Given the description of an element on the screen output the (x, y) to click on. 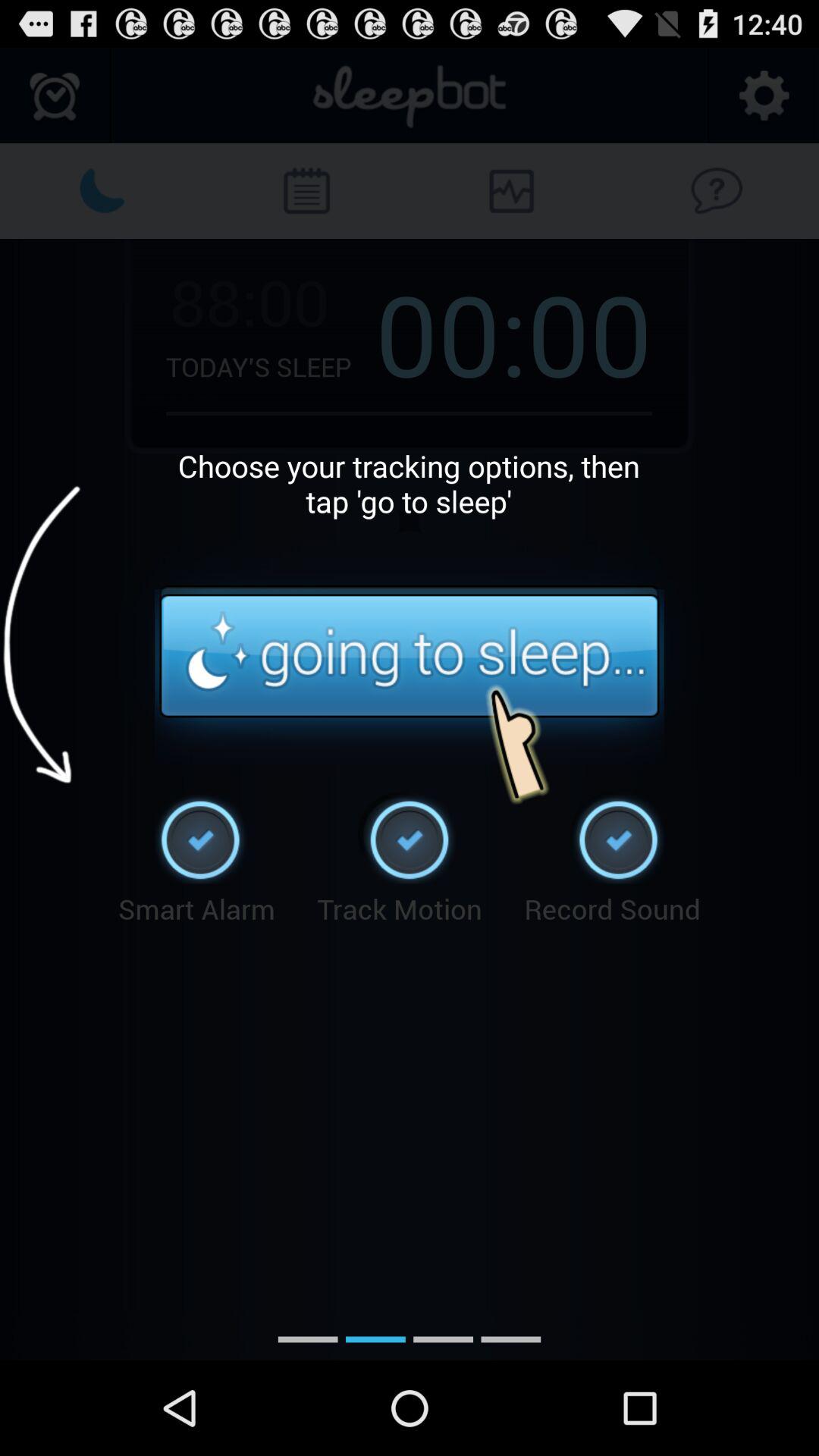
click on the moon (101, 189)
